Given the description of an element on the screen output the (x, y) to click on. 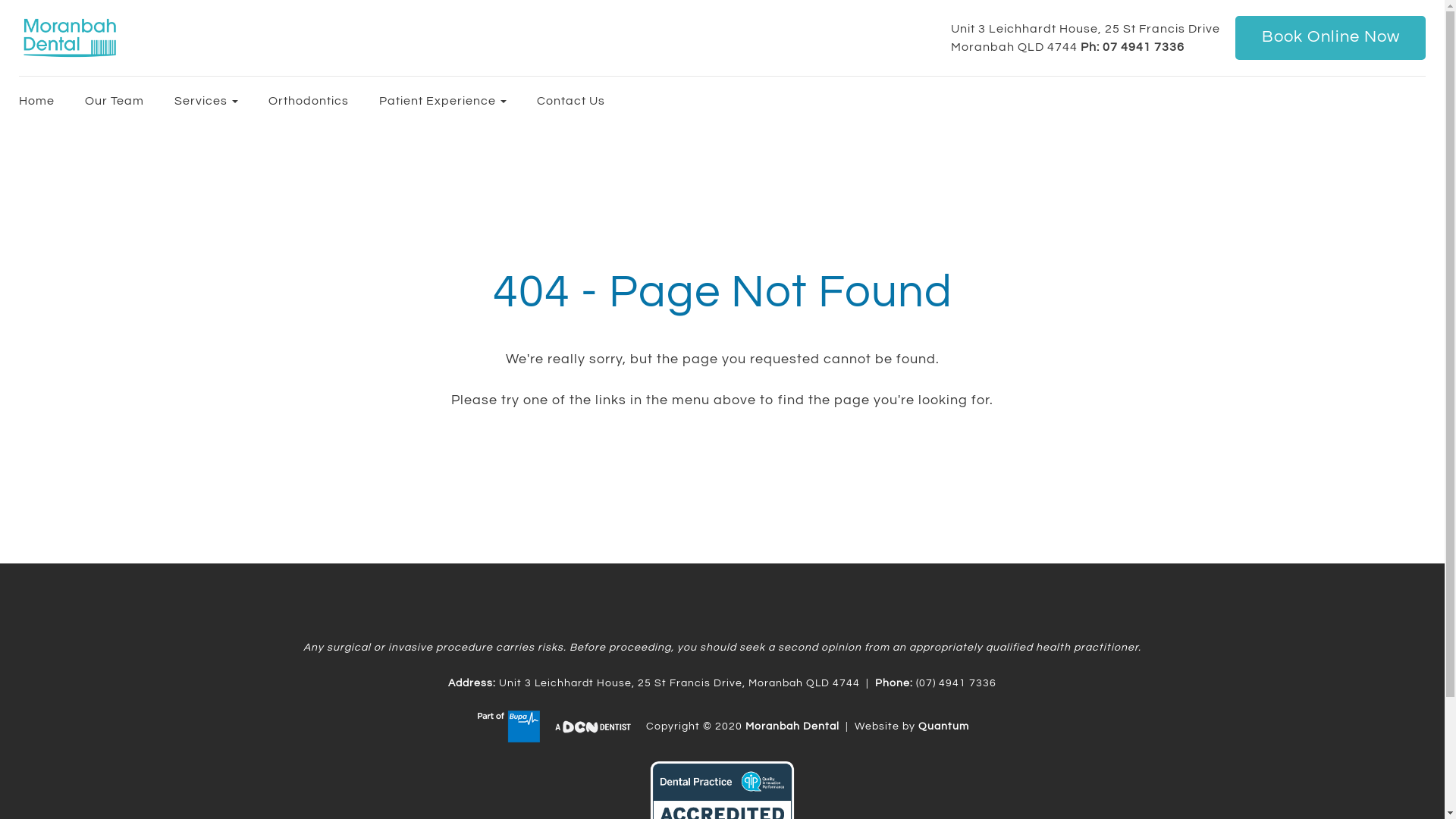
Services Element type: text (210, 100)
Contact Us Element type: text (570, 100)
Moranbah Dental Element type: text (792, 726)
Book Online Now Element type: text (1330, 37)
Our Team Element type: text (118, 100)
Home Element type: text (45, 100)
Patient Experience Element type: text (446, 100)
Quantum Element type: text (943, 726)
Orthodontics Element type: text (312, 100)
